Given the description of an element on the screen output the (x, y) to click on. 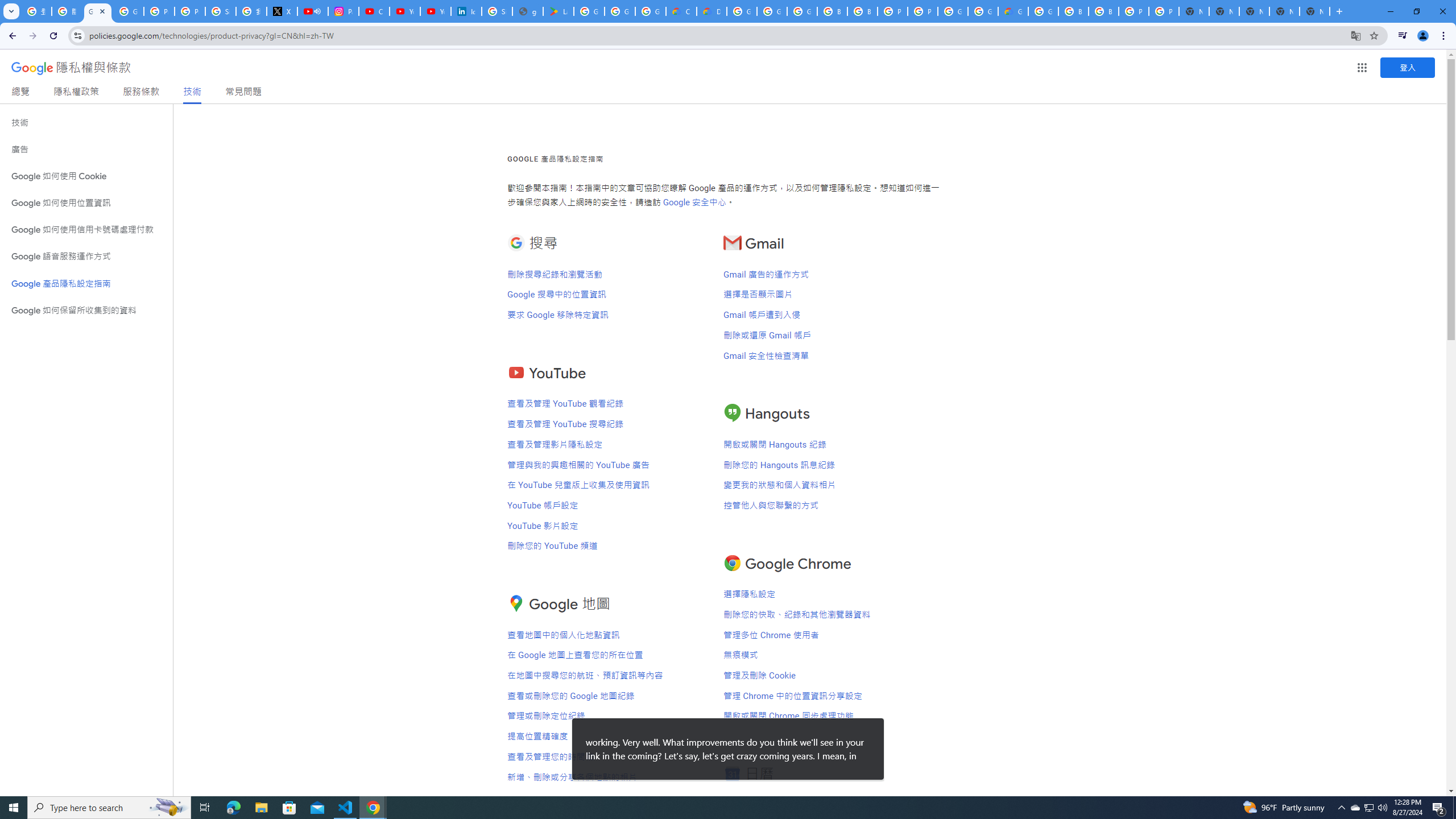
Sign in - Google Accounts (220, 11)
Browse Chrome as a guest - Computer - Google Chrome Help (1072, 11)
Last Shelter: Survival - Apps on Google Play (558, 11)
